Given the description of an element on the screen output the (x, y) to click on. 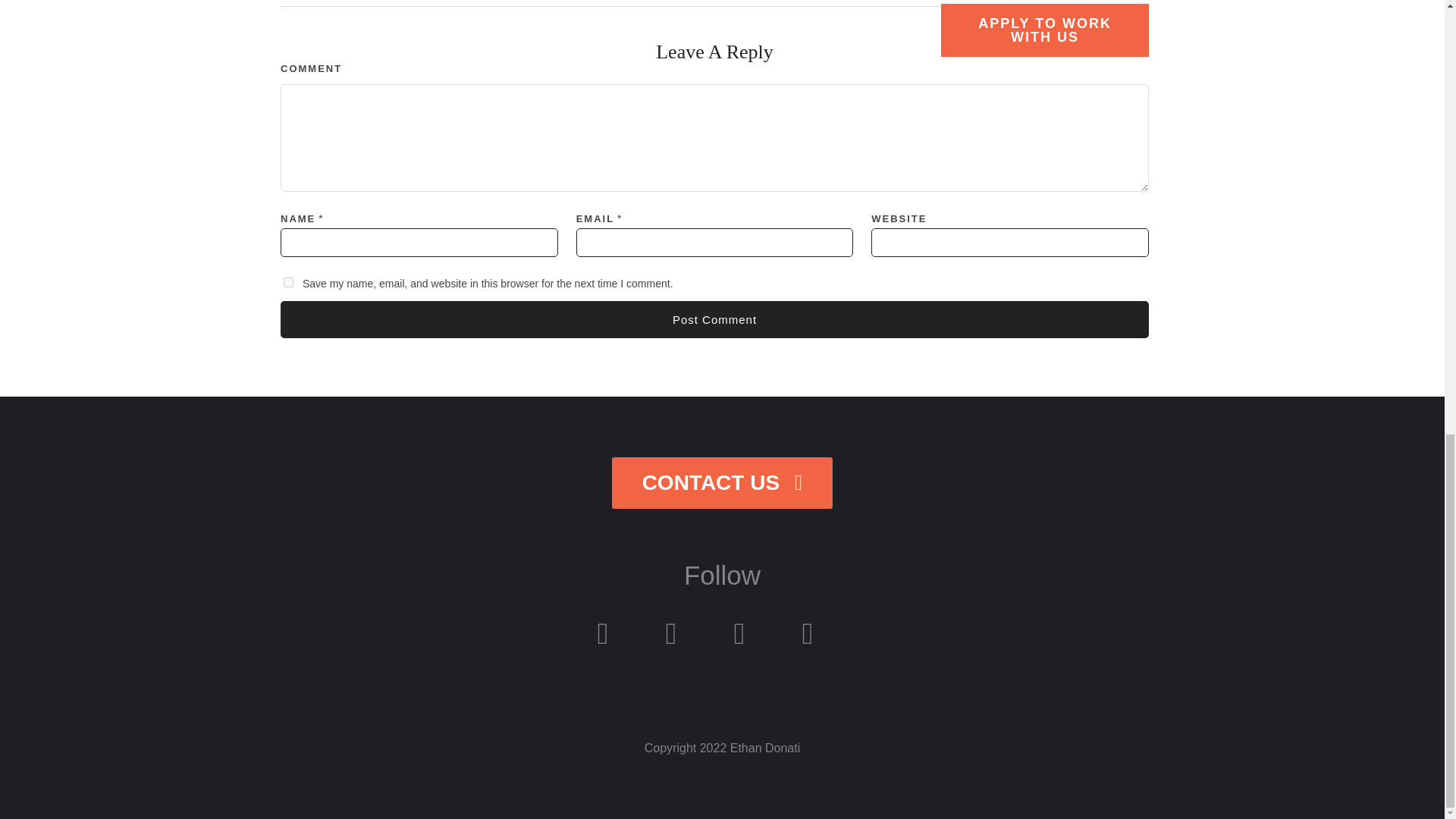
Post Comment (714, 320)
Post Comment (714, 320)
yes (288, 282)
CONTACT US (721, 482)
